Given the description of an element on the screen output the (x, y) to click on. 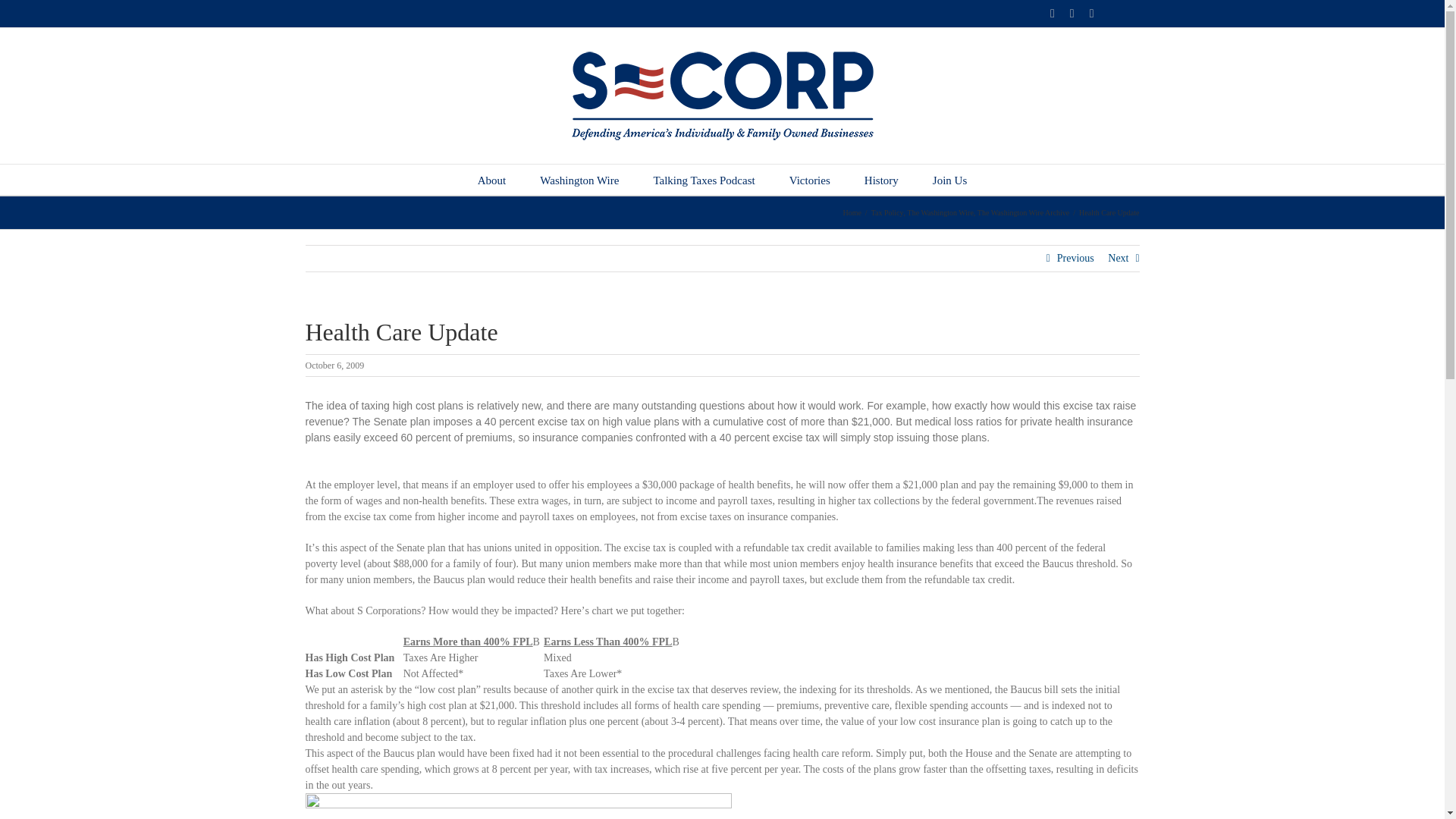
Join Us (949, 179)
The Washington Wire Archive (1022, 212)
Talking Taxes Podcast (703, 179)
Washington Wire (579, 179)
The Washington Wire (940, 212)
History (881, 179)
Previous (1075, 258)
Home (851, 212)
Tax Policy (887, 212)
Victories (809, 179)
